Given the description of an element on the screen output the (x, y) to click on. 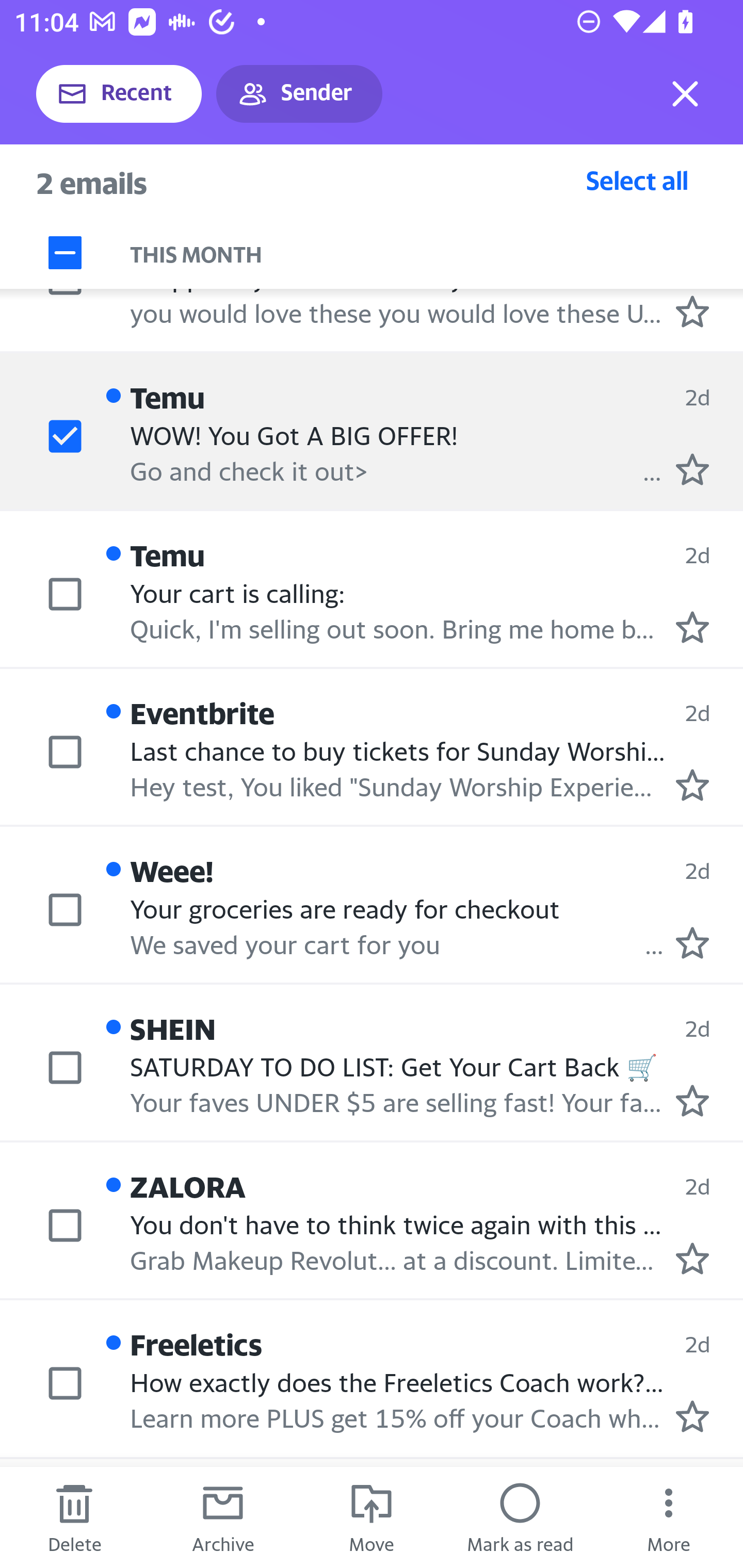
Sender (299, 93)
Exit selection mode (684, 93)
Select all (637, 180)
Mark as starred. (692, 311)
Mark as starred. (692, 469)
Mark as starred. (692, 627)
Mark as starred. (692, 784)
Mark as starred. (692, 943)
Mark as starred. (692, 1099)
Mark as starred. (692, 1258)
Mark as starred. (692, 1416)
Delete (74, 1517)
Archive (222, 1517)
Move (371, 1517)
Mark as read (519, 1517)
More (668, 1517)
